Given the description of an element on the screen output the (x, y) to click on. 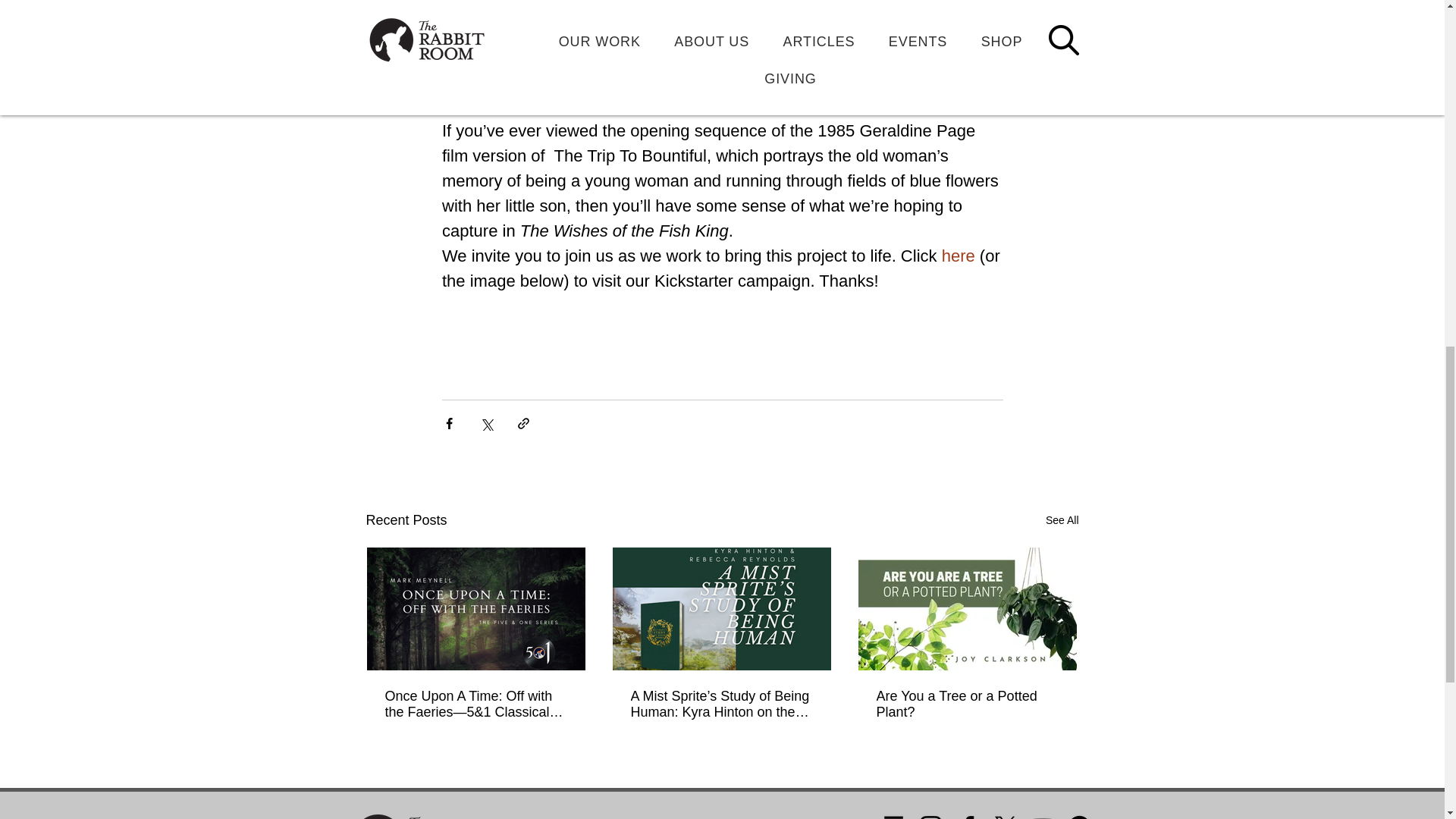
here (957, 255)
Are You a Tree or a Potted Plant? (967, 704)
See All (1061, 520)
